Given the description of an element on the screen output the (x, y) to click on. 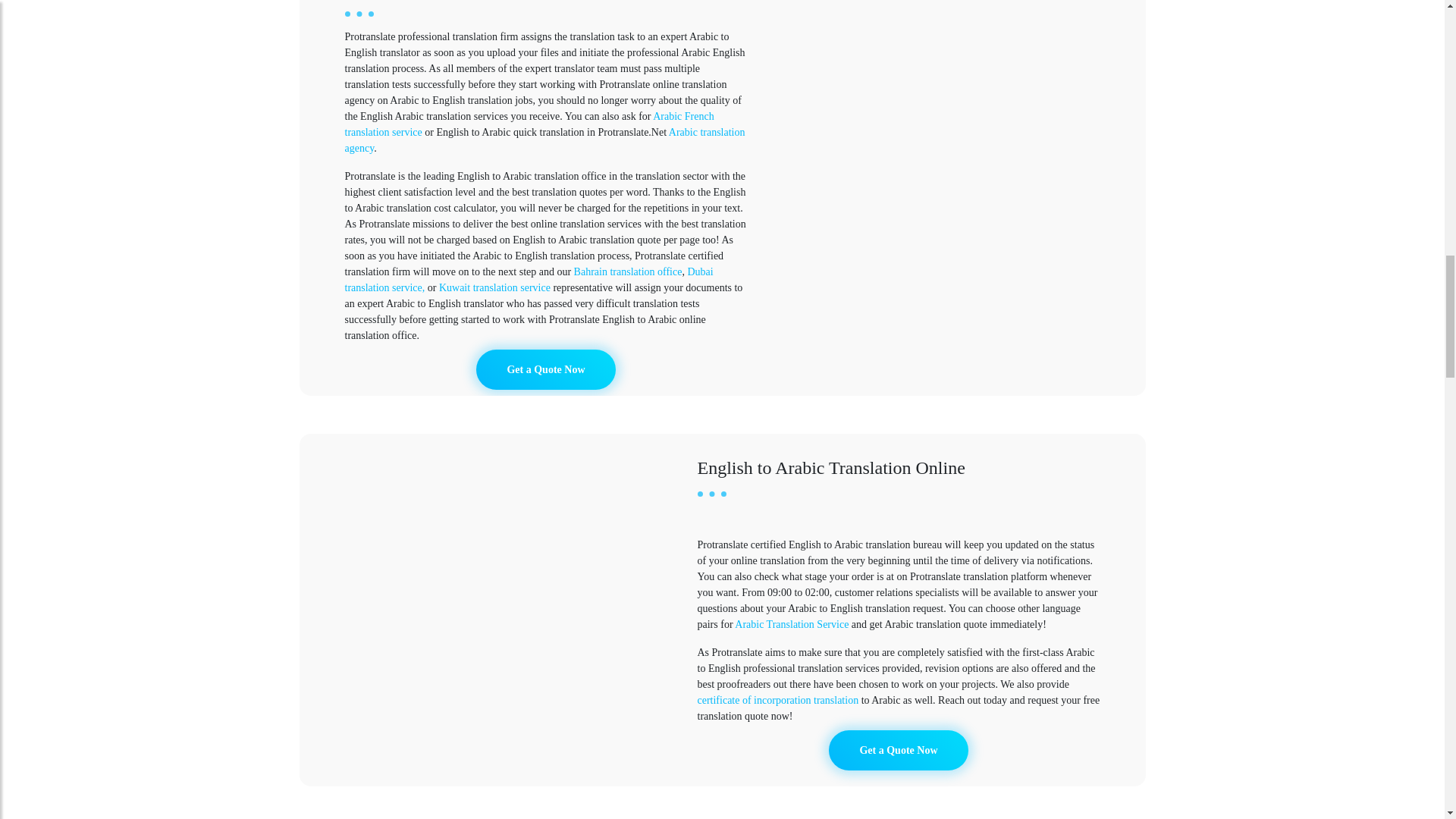
certificate of incorporation translation (778, 699)
Dubai translation service, (528, 279)
Kuwait translation service (494, 287)
Arabic translation agency (543, 139)
Get a Quote Now (898, 750)
Arabic French translation service (528, 124)
Get a Quote Now (545, 369)
Bahrain translation office (627, 271)
Arabic Translation Service (791, 624)
